Given the description of an element on the screen output the (x, y) to click on. 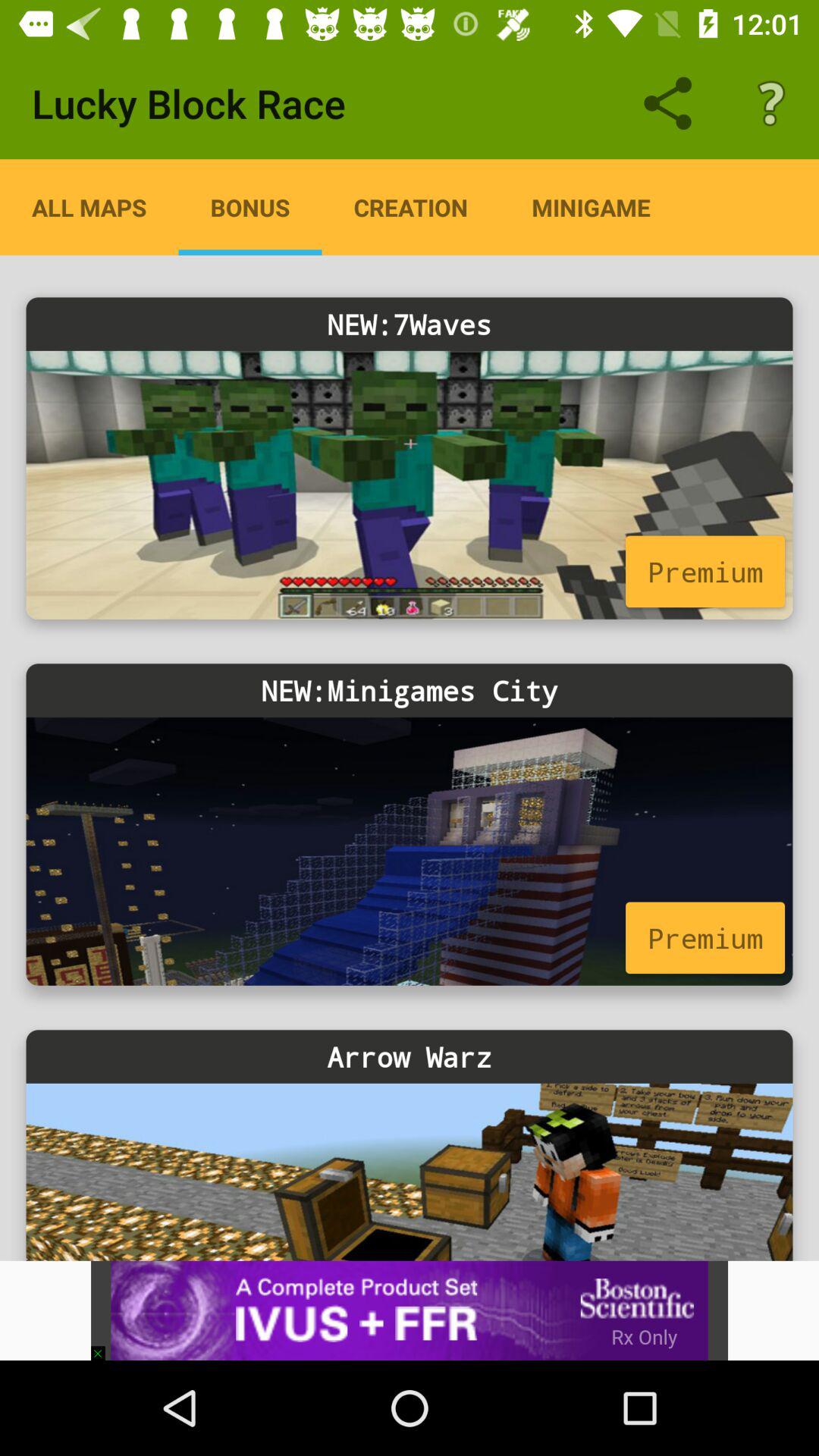
play minigames city (409, 851)
